Given the description of an element on the screen output the (x, y) to click on. 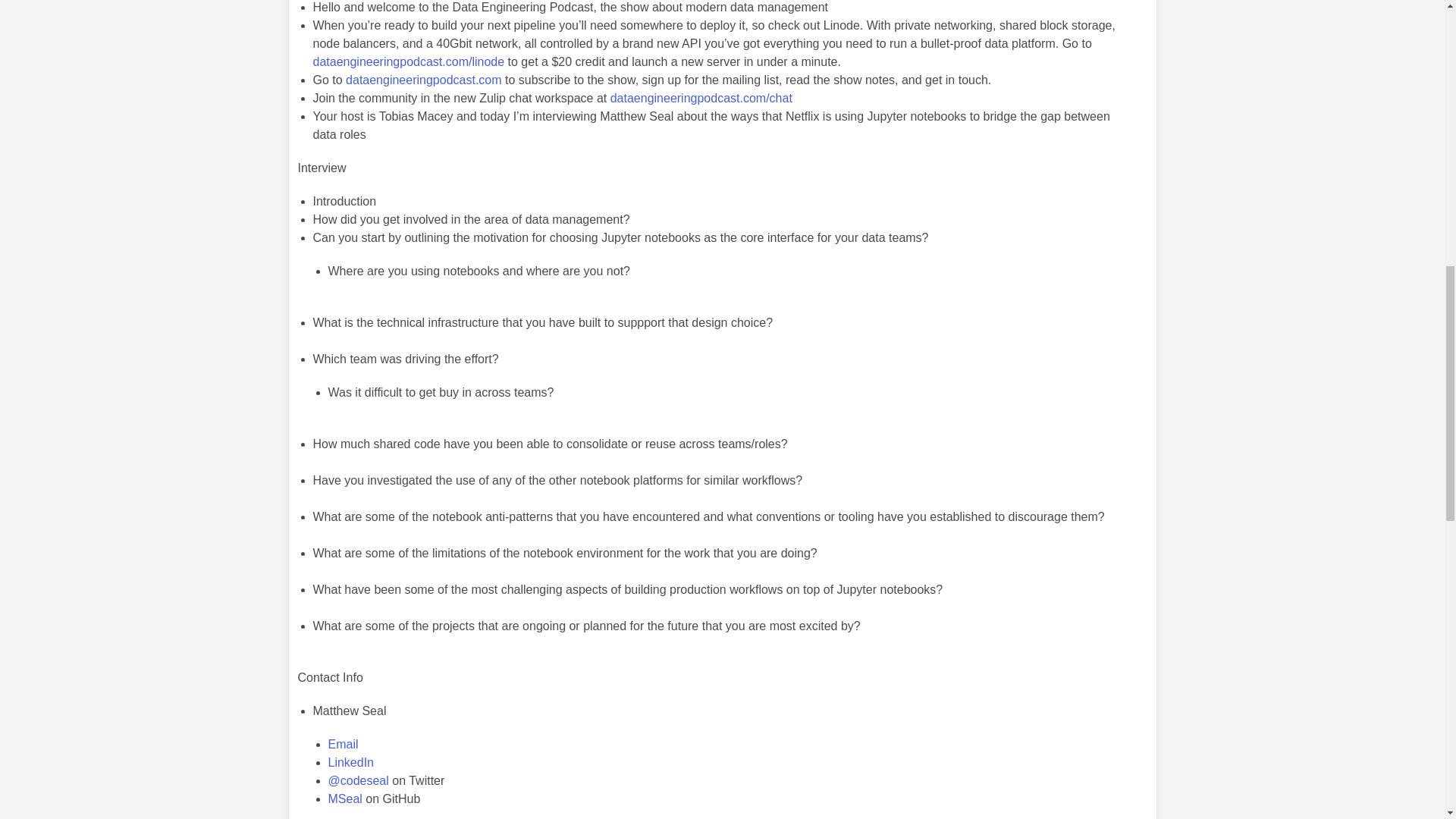
Email (342, 744)
dataengineeringpodcast.com (423, 79)
MSeal (344, 798)
LinkedIn (350, 762)
